Given the description of an element on the screen output the (x, y) to click on. 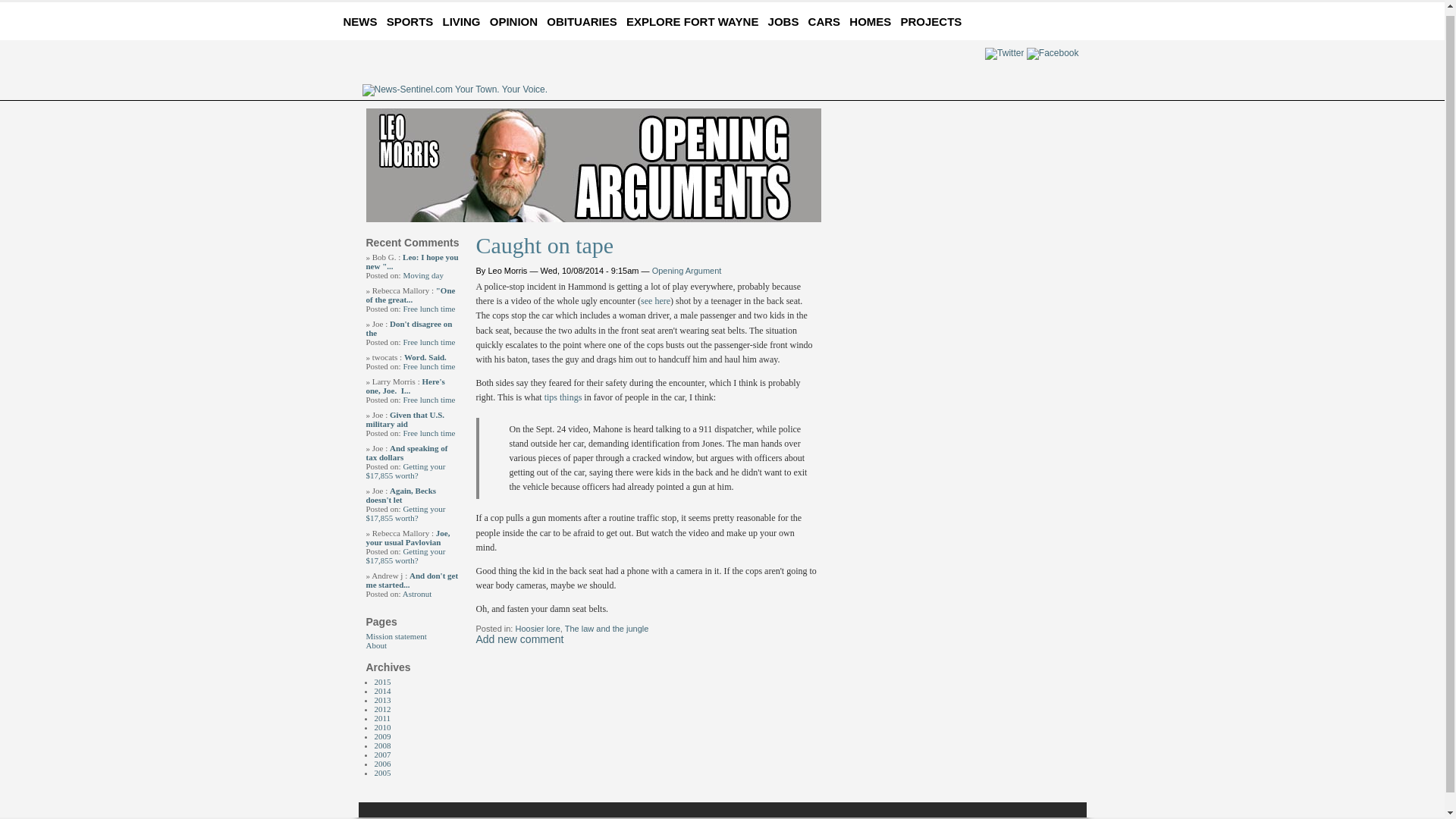
Moving day (422, 275)
About (376, 645)
Free lunch time (428, 366)
And speaking of tax dollars (405, 452)
Subscribe (1071, 19)
And don't get me started... (411, 579)
OBITUARIES (585, 21)
Advertise (1012, 19)
OPINION (516, 21)
NEWS (362, 21)
LIVING (464, 21)
EXPLORE FORT WAYNE (695, 21)
Again, Becks doesn't let (400, 495)
Mission statement (395, 635)
2015 (382, 681)
